Given the description of an element on the screen output the (x, y) to click on. 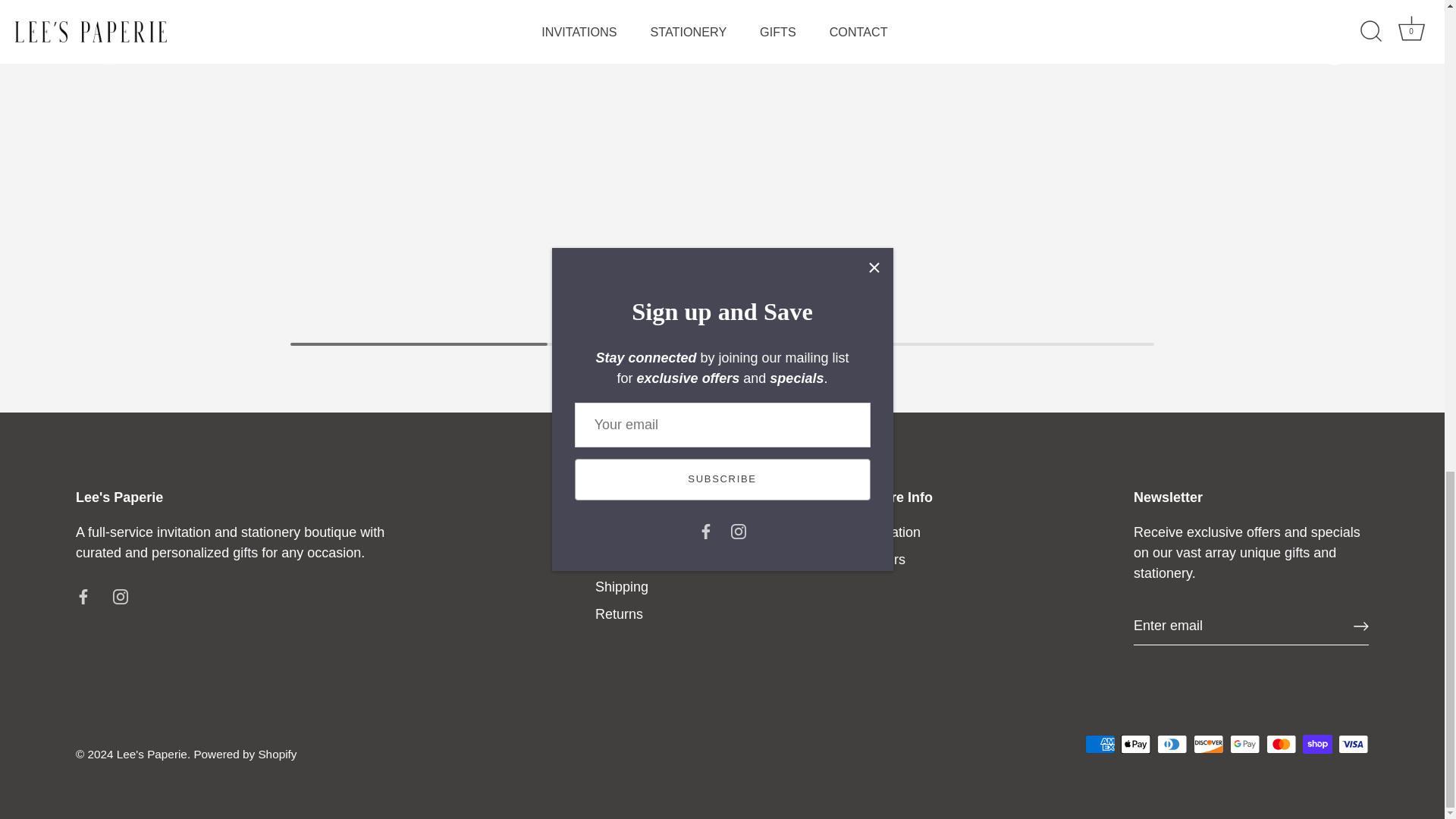
Diners Club (1171, 743)
Discover (1208, 743)
RIGHT ARROW LONG (1361, 626)
Shop Pay (1317, 743)
Google Pay (1244, 743)
American Express (1099, 743)
Mastercard (1280, 743)
Visa (1353, 743)
Apple Pay (1135, 743)
Instagram (120, 596)
